Given the description of an element on the screen output the (x, y) to click on. 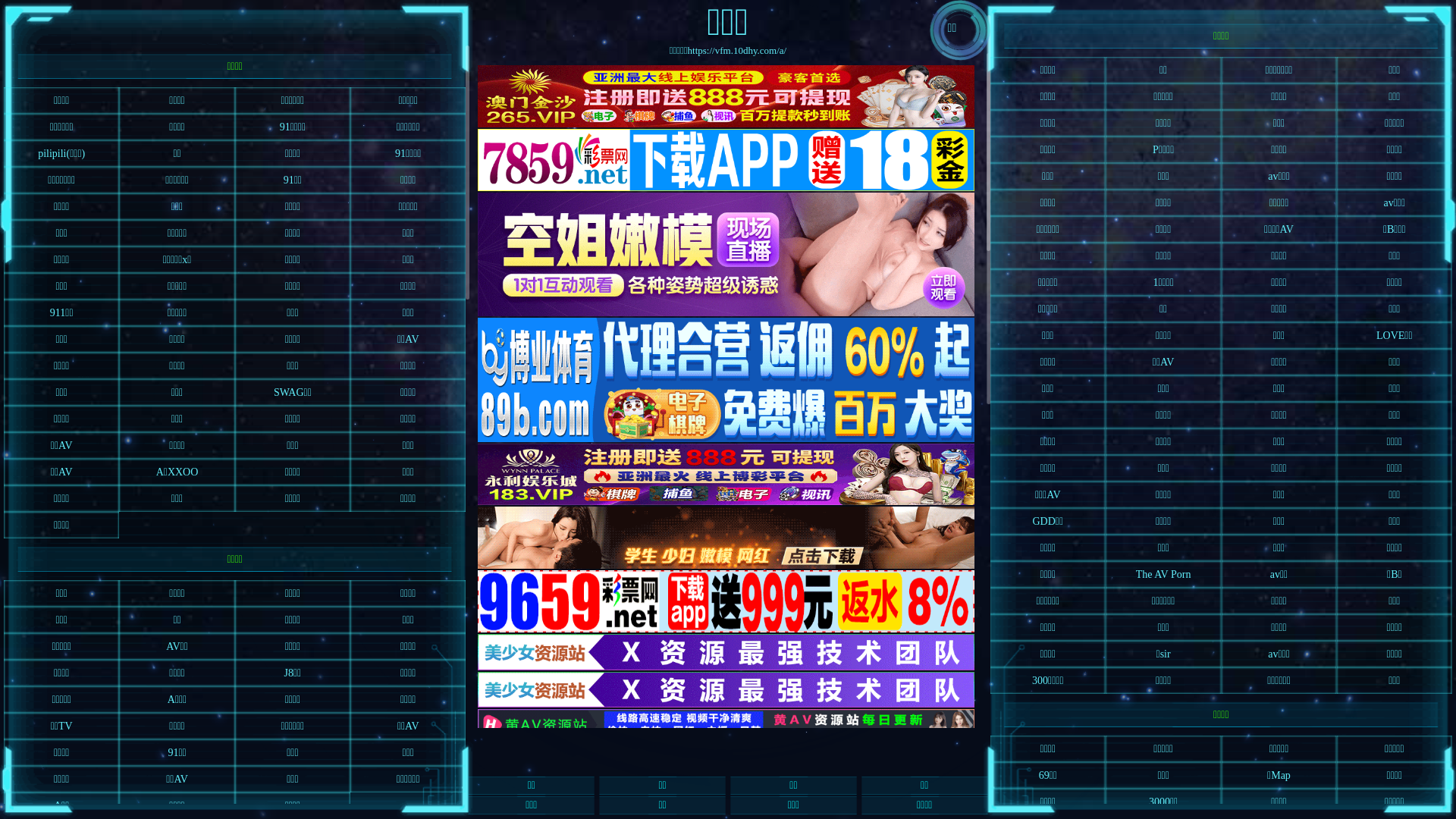
The AV Porn Element type: text (1162, 574)
